Given the description of an element on the screen output the (x, y) to click on. 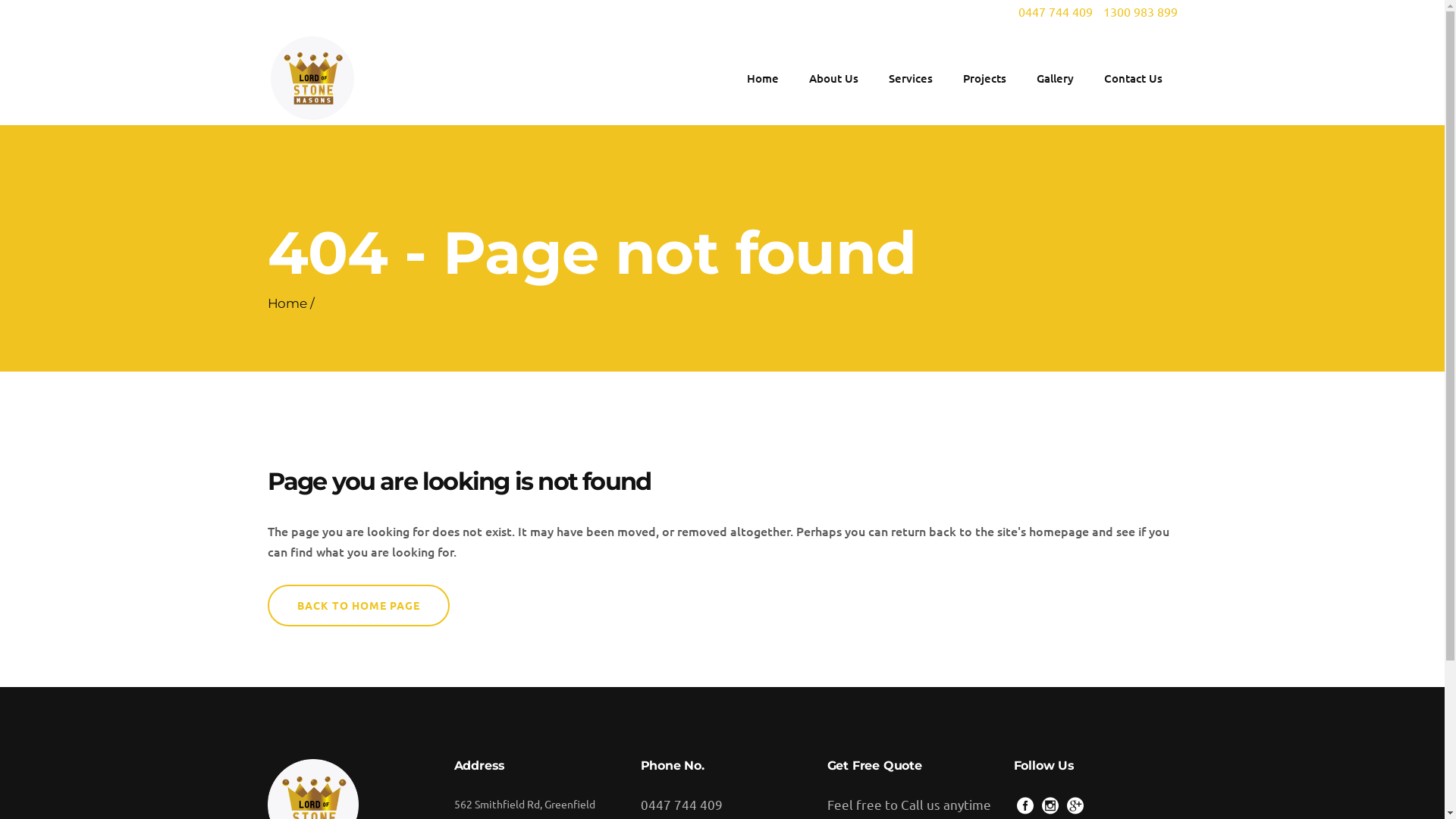
Contact Us Element type: text (1132, 77)
About Us Element type: text (832, 77)
Home Element type: text (762, 77)
Gallery Element type: text (1054, 77)
BACK TO HOME PAGE Element type: text (357, 605)
Projects Element type: text (984, 77)
Home Element type: text (286, 303)
Services Element type: text (910, 77)
0447 744 409 Element type: text (1054, 10)
1300 983 899 Element type: text (1139, 10)
0447 744 409 Element type: text (680, 804)
